Given the description of an element on the screen output the (x, y) to click on. 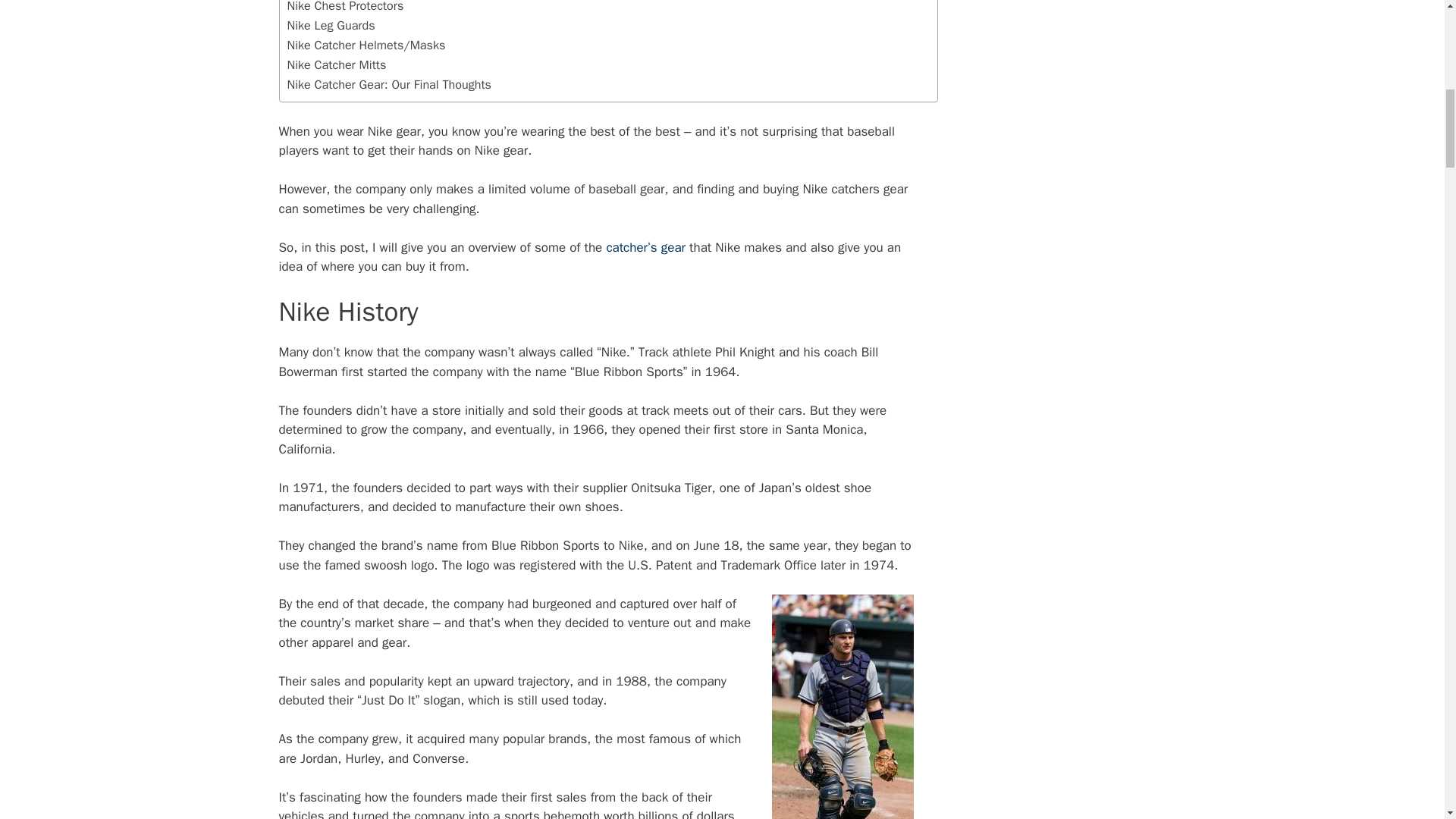
Nike Catcher Mitts (335, 65)
Nike Catcher Gear: Our Final Thoughts (389, 84)
Nike Leg Guards (330, 25)
Nike Chest Protectors (344, 7)
Nike Chest Protectors (344, 7)
Nike Catcher Gear: Our Final Thoughts (389, 84)
Nike Leg Guards (330, 25)
Nike Catcher Mitts (335, 65)
